Given the description of an element on the screen output the (x, y) to click on. 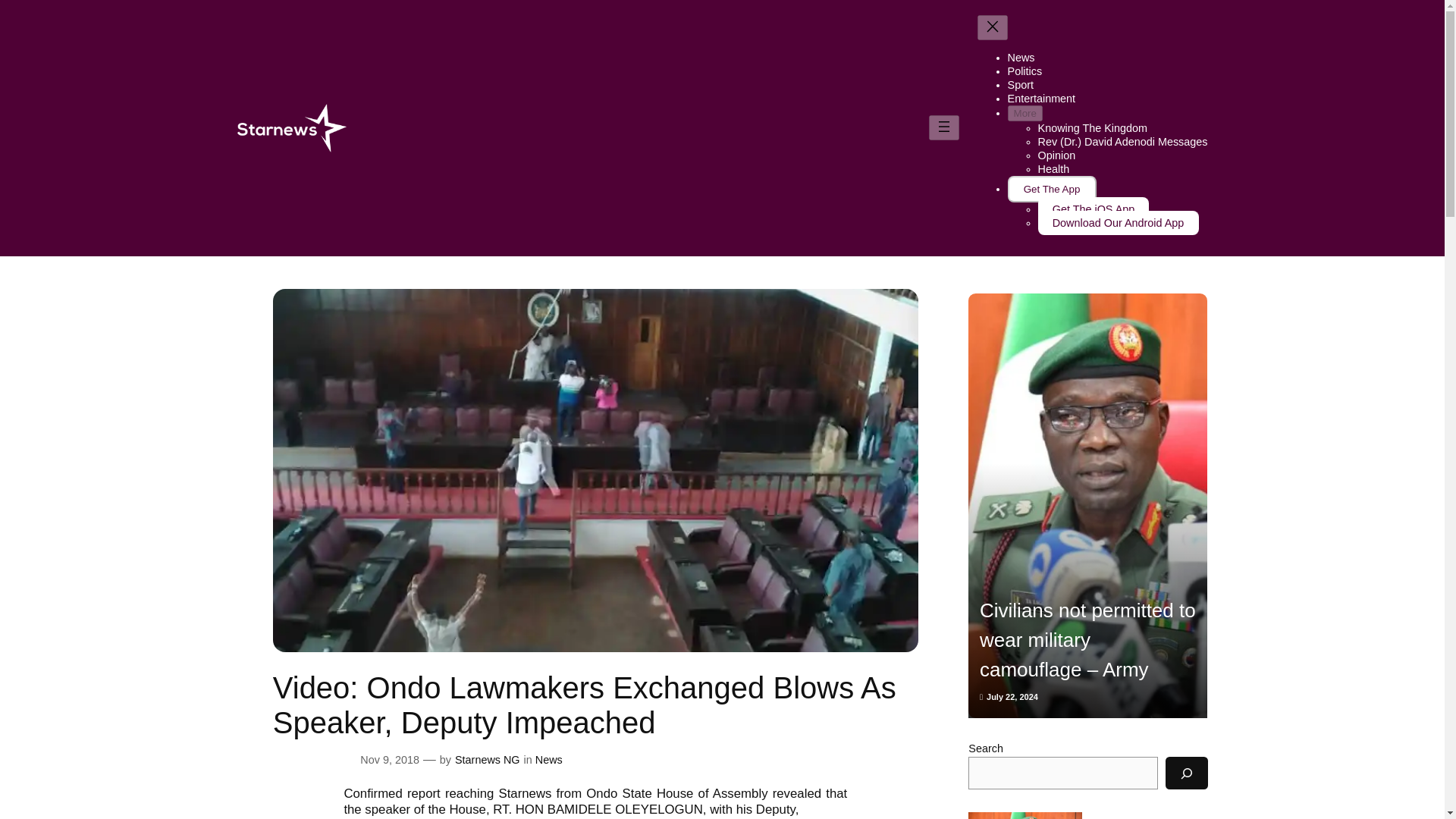
Nov 9, 2018 (389, 759)
Get The iOS App (1094, 209)
Starnews NG (486, 759)
More (1024, 113)
Politics (1024, 70)
News (548, 759)
Health (1054, 168)
Opinion (1056, 155)
Get The App (1051, 189)
Knowing The Kingdom (1093, 128)
Download Our Android App (1118, 222)
News (1021, 57)
Sport (1020, 84)
Entertainment (1041, 98)
